Given the description of an element on the screen output the (x, y) to click on. 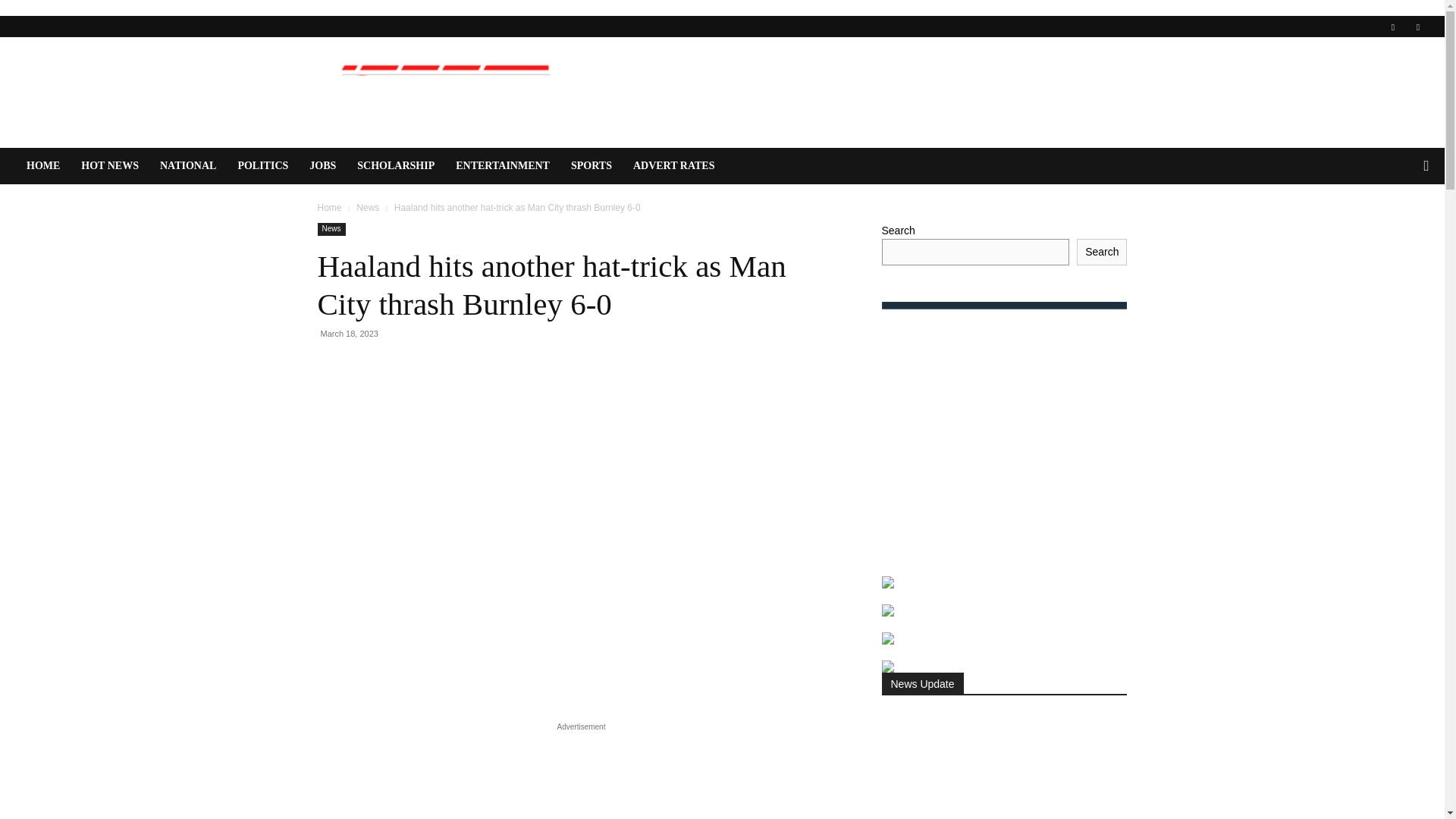
SCHOLARSHIP (395, 166)
HOT NEWS (109, 166)
NATIONAL (188, 166)
HOME (42, 166)
ENTERTAINMENT (502, 166)
NEWSPOT NIGERIA (445, 92)
Twitter (1417, 25)
Search (1395, 226)
SPORTS (591, 166)
View all posts in News (367, 207)
